Given the description of an element on the screen output the (x, y) to click on. 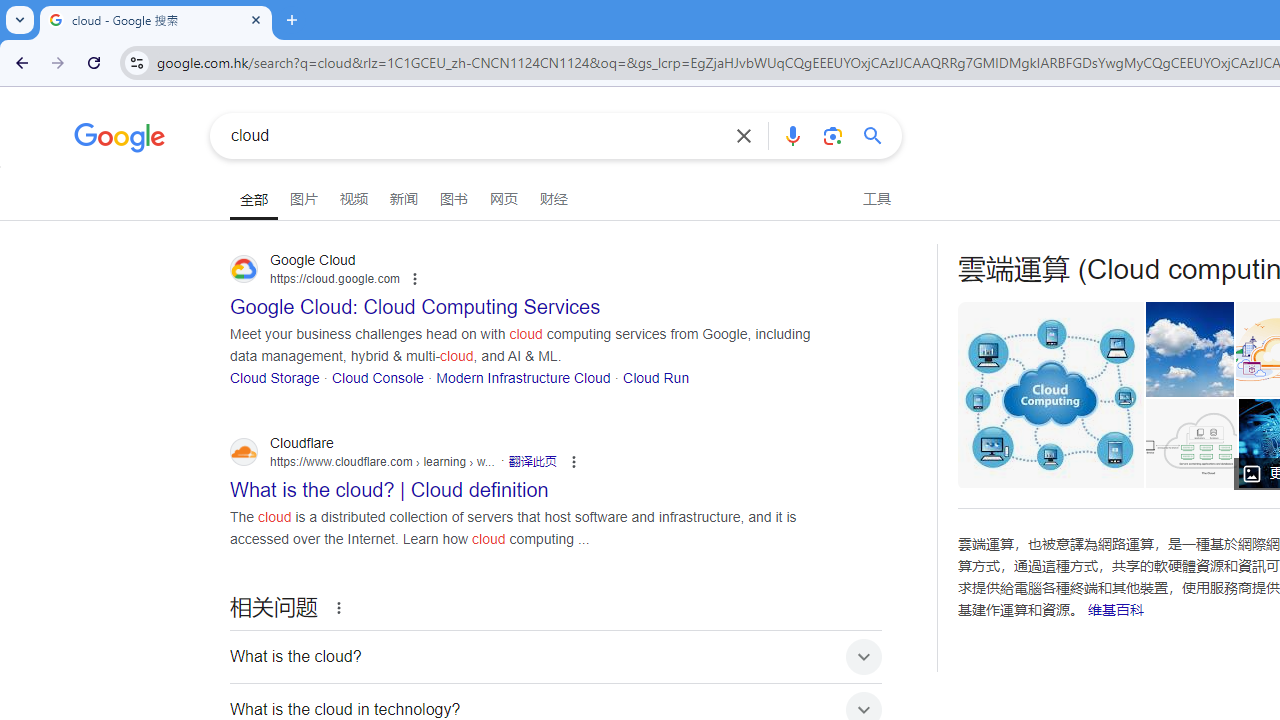
Google (120, 139)
Modern Infrastructure Cloud (523, 376)
